Given the description of an element on the screen output the (x, y) to click on. 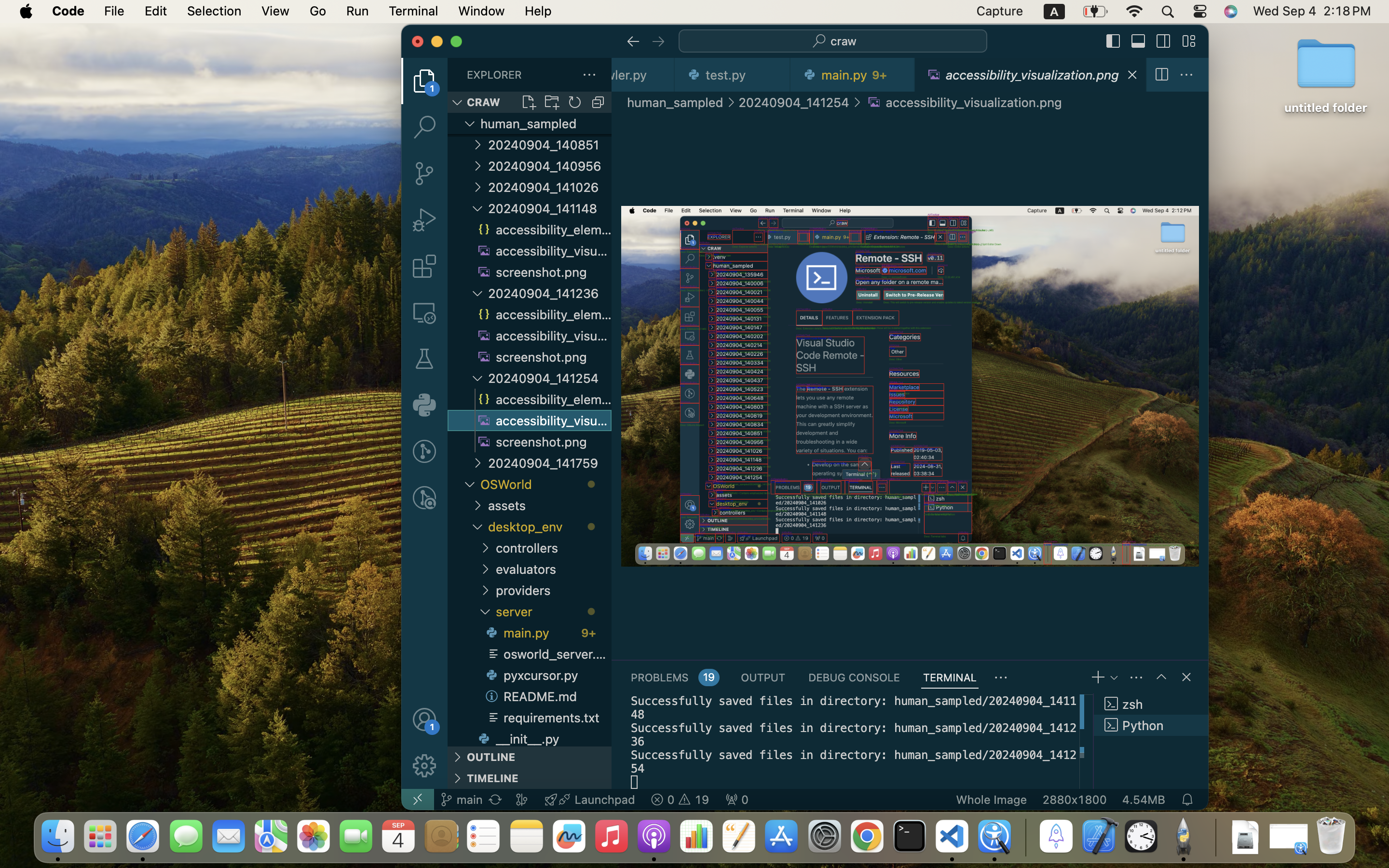
 Element type: AXGroup (424, 127)
__init__.py  Element type: AXGroup (542, 737)
20240904_141236 Element type: AXGroup (549, 292)
README.md  Element type: AXGroup (546, 695)
craw Element type: AXStaticText (843, 41)
